Given the description of an element on the screen output the (x, y) to click on. 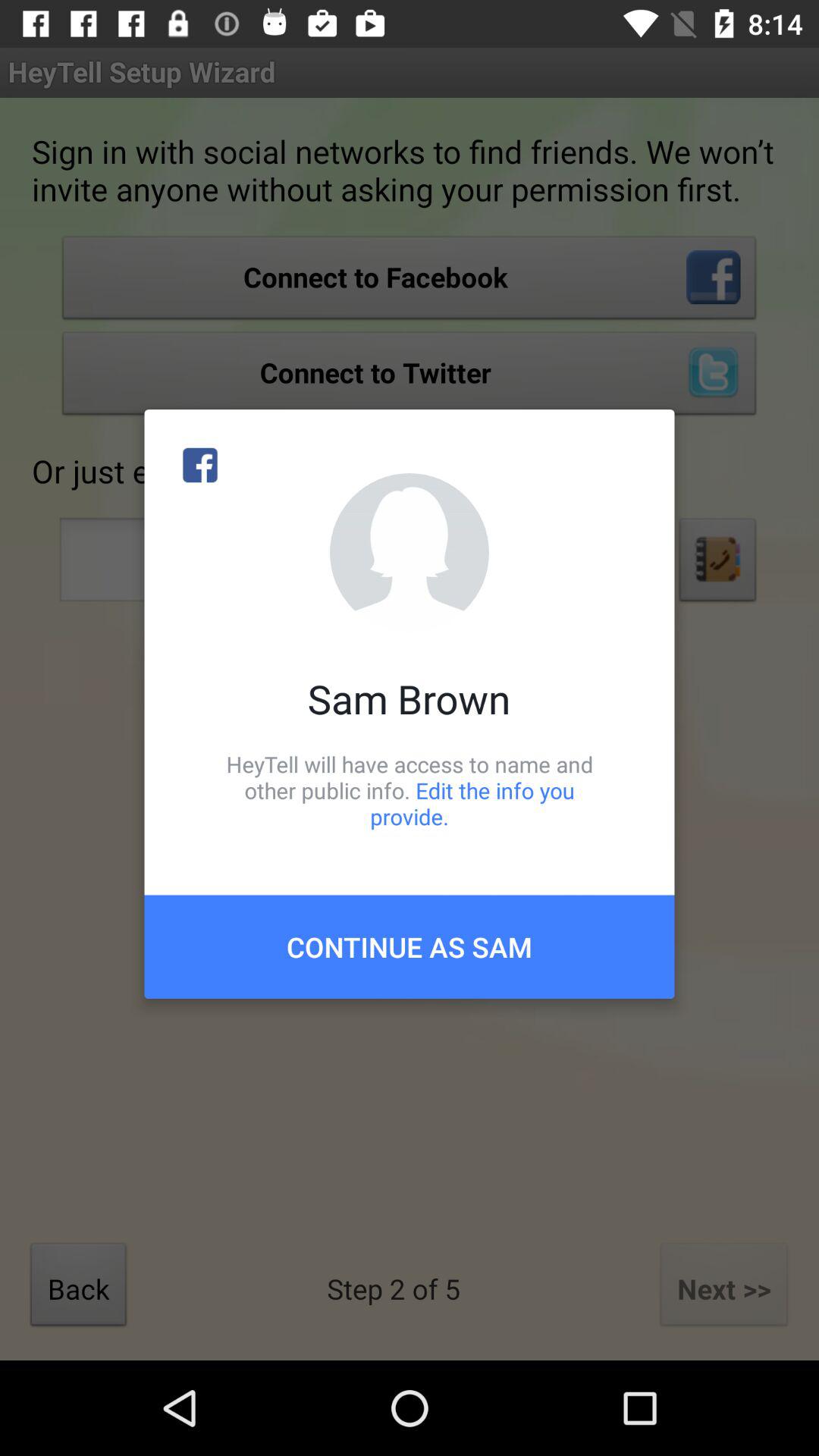
tap heytell will have item (409, 790)
